Given the description of an element on the screen output the (x, y) to click on. 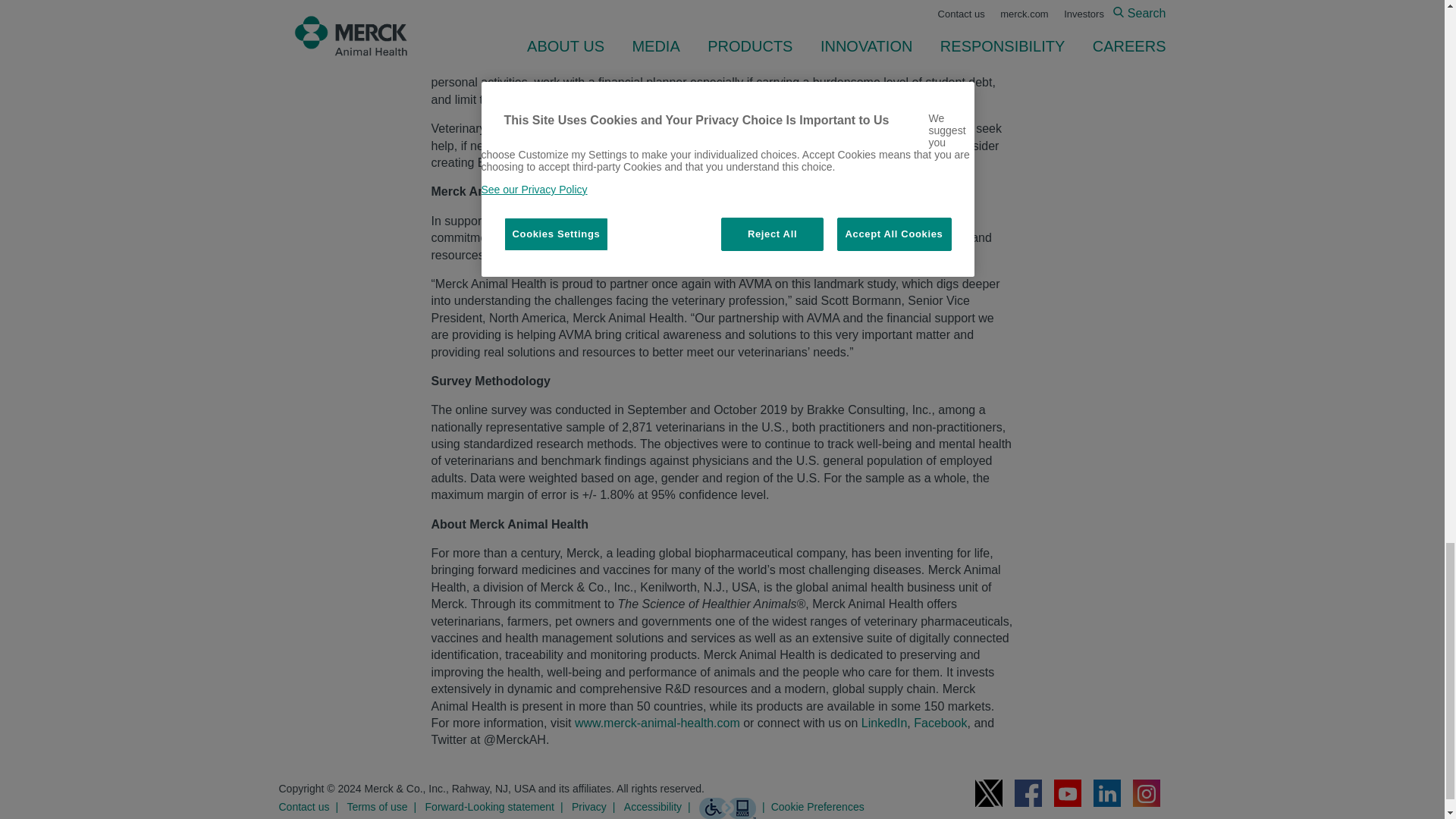
Facebook (940, 722)
Contact us (312, 806)
Facebook: Merck Animal Health (1028, 792)
Terms of use (384, 806)
Instagram: Merck Animal Health (1146, 792)
YouTube: Merck Animal Health (1067, 792)
www.merck-animal-health.com (657, 722)
Twitter: Merck Animal Health (989, 792)
Linkedin: Merck Animal Health (1107, 792)
LinkedIn (884, 722)
